Given the description of an element on the screen output the (x, y) to click on. 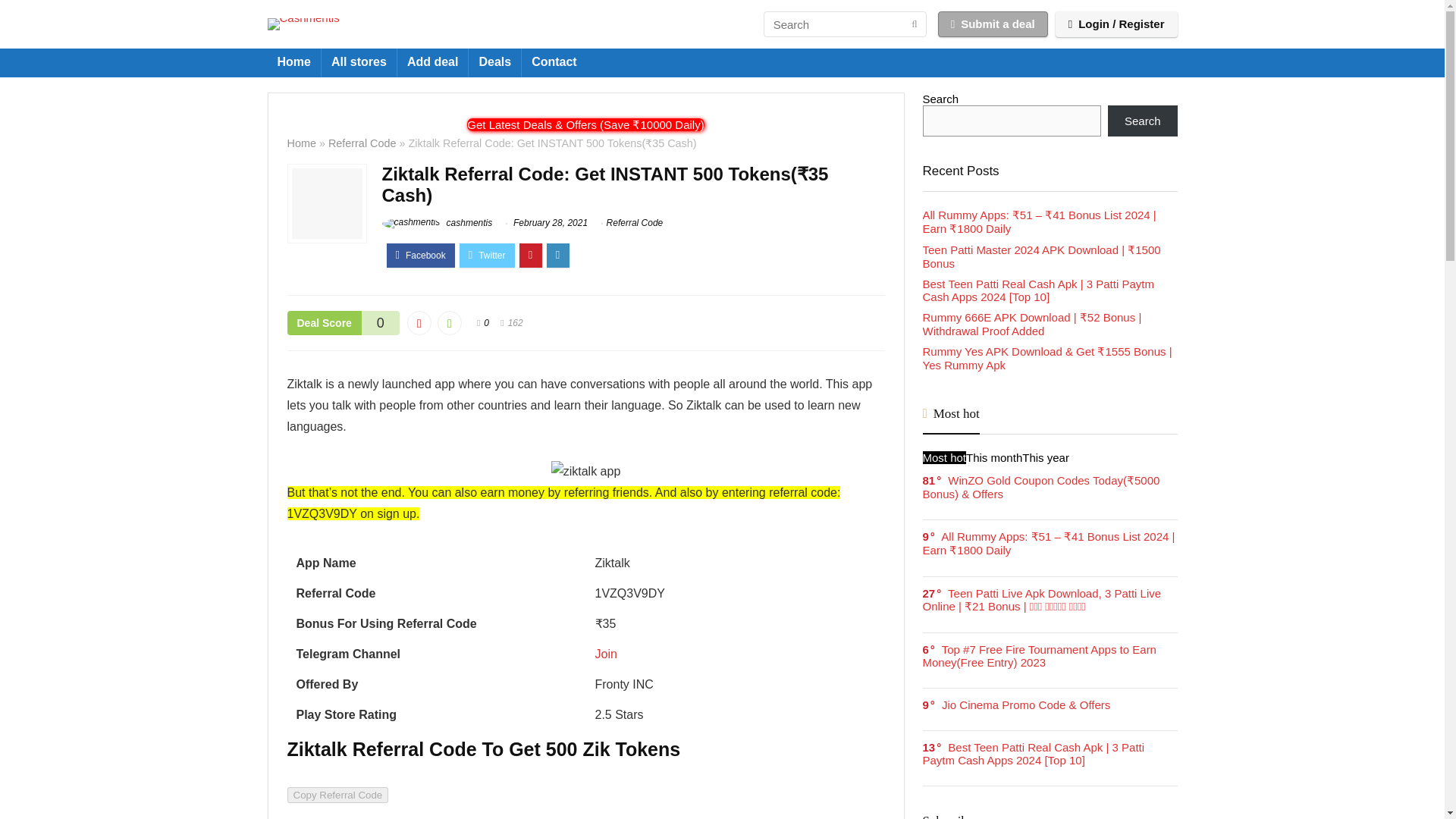
cashmentis (437, 246)
Join (604, 677)
Contact (553, 86)
Copy Referral Code (337, 815)
Referral Code (362, 167)
Home (293, 86)
Home (300, 167)
View all posts in Referral Code (635, 246)
Submit a deal (992, 36)
Vote down (418, 346)
